Given the description of an element on the screen output the (x, y) to click on. 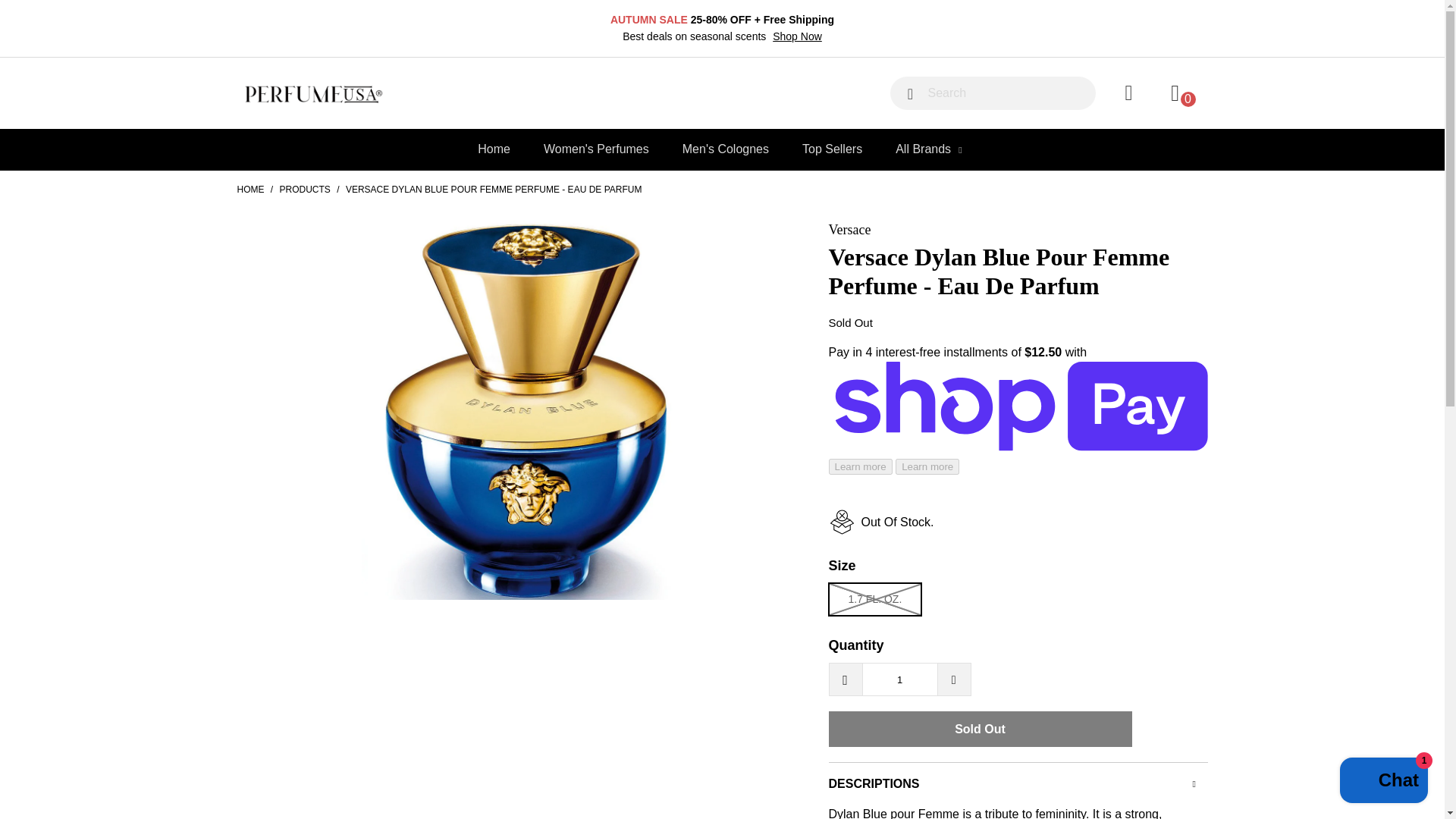
Products (304, 189)
1 (899, 679)
Perfume USA (249, 189)
My Account  (1126, 93)
Perfume USA (359, 95)
